Given the description of an element on the screen output the (x, y) to click on. 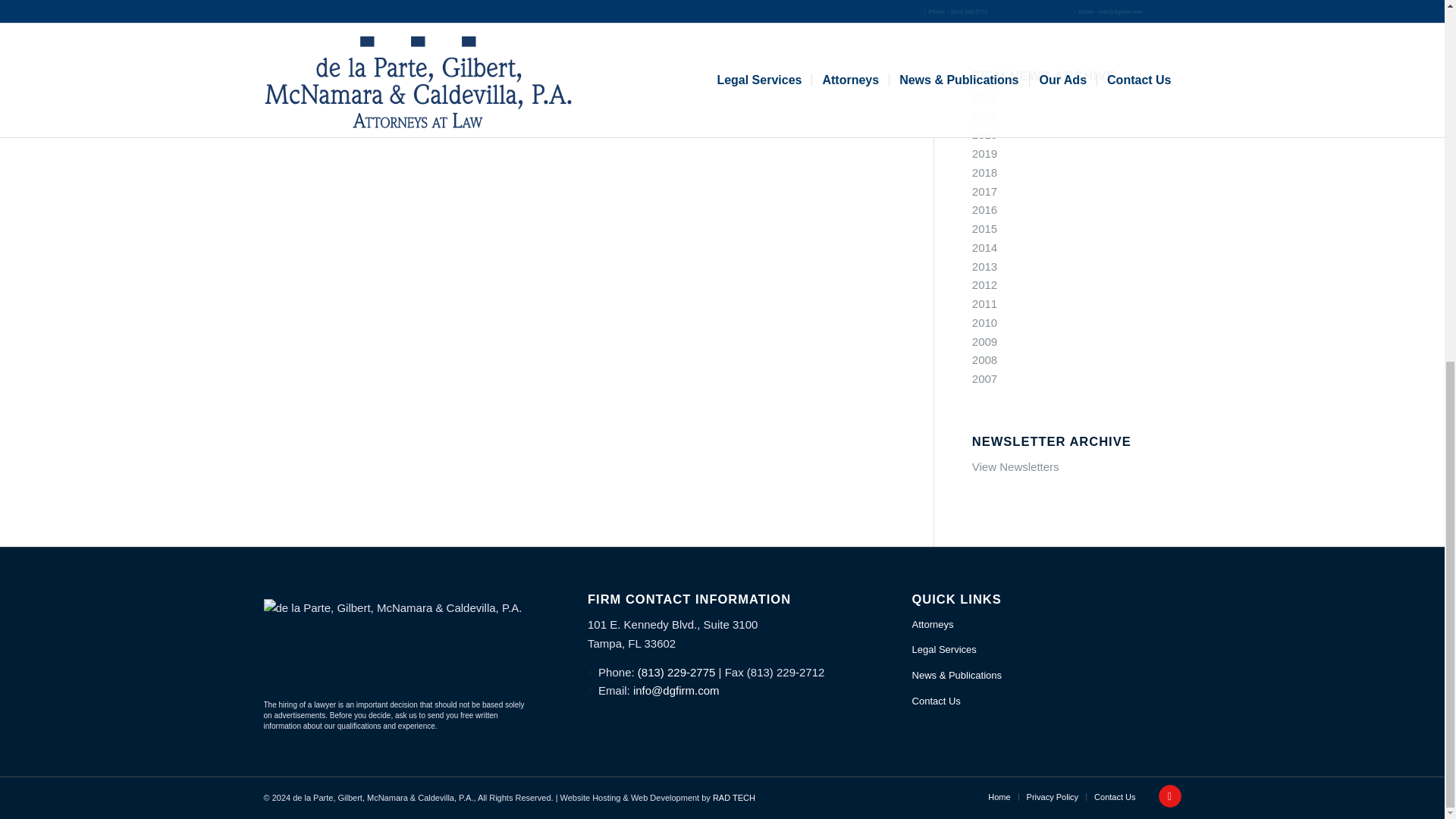
2020 (984, 133)
2022 (984, 115)
2019 (984, 153)
2017 (984, 191)
2018 (984, 172)
2024 (984, 97)
